Given the description of an element on the screen output the (x, y) to click on. 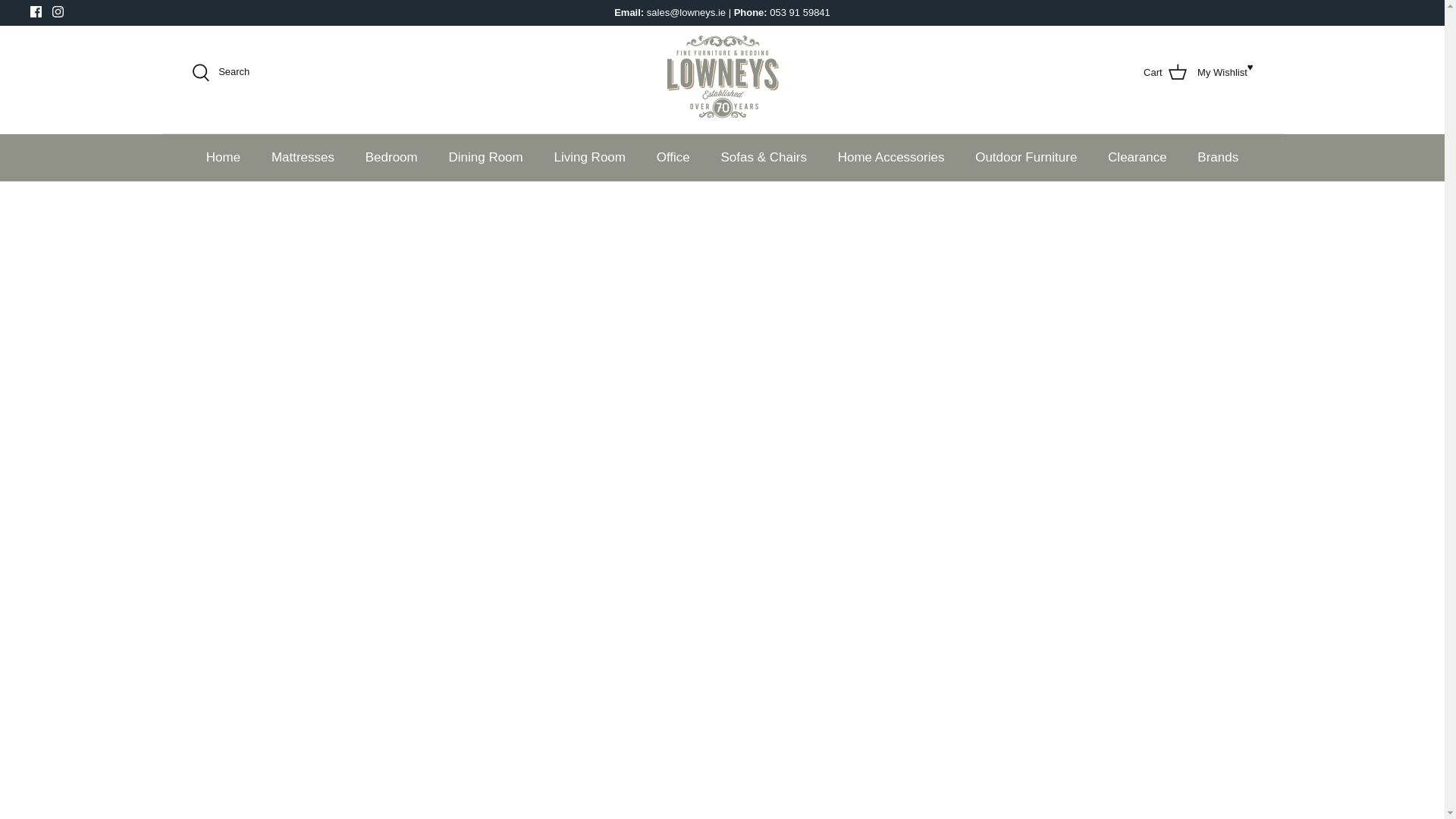
Instagram (1169, 72)
Bedroom (58, 11)
My Wishlist (391, 157)
Lowneys (1221, 73)
Mattresses (721, 72)
Instagram (302, 157)
Facebook (58, 11)
Facebook (36, 11)
Dining Room (36, 11)
